Given the description of an element on the screen output the (x, y) to click on. 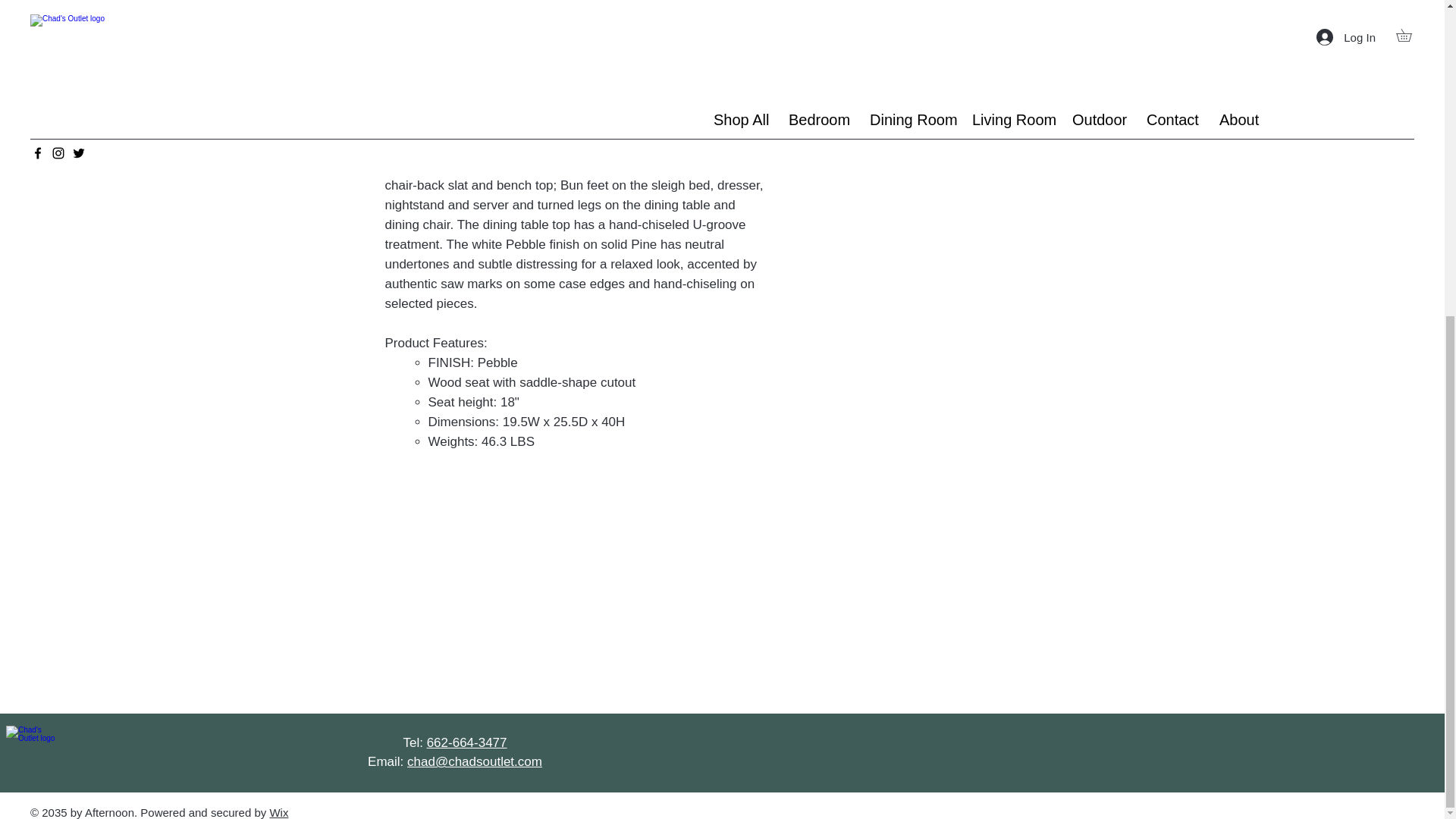
Carton Size 43x22x16 cu' 8.49 (924, 6)
662-664-3477 (466, 742)
